Given the description of an element on the screen output the (x, y) to click on. 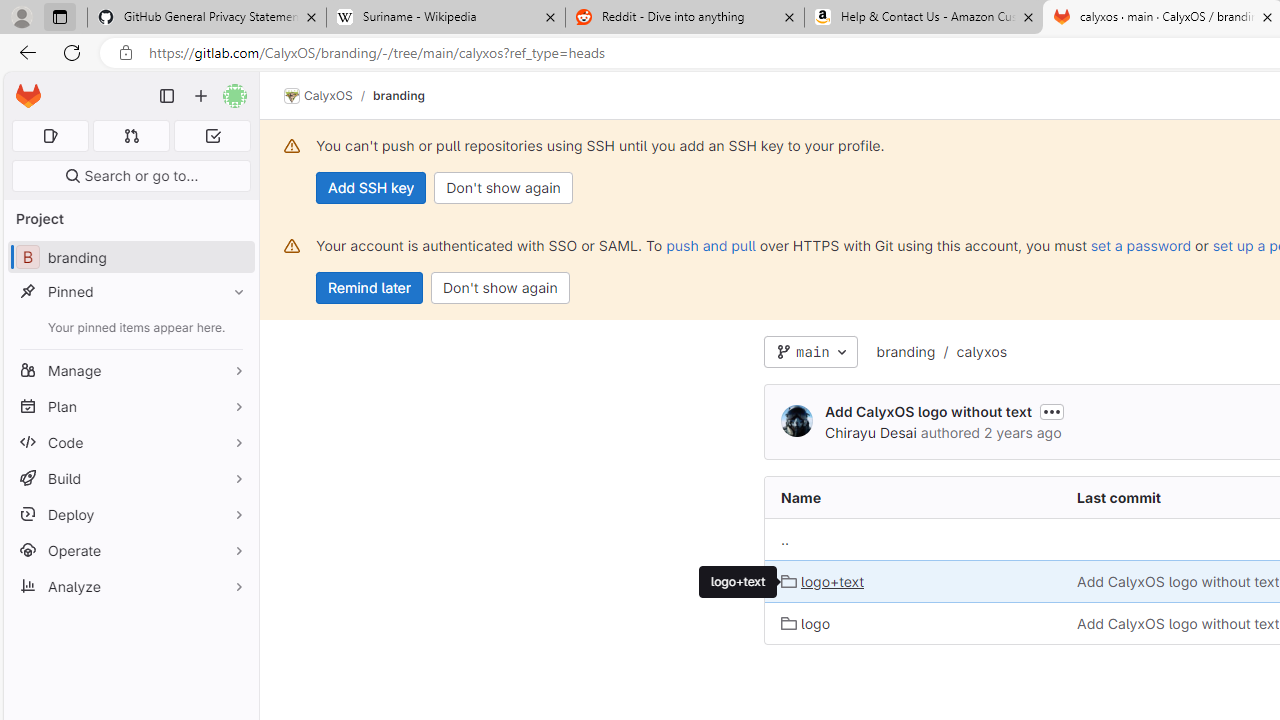
Manage (130, 370)
